Given the description of an element on the screen output the (x, y) to click on. 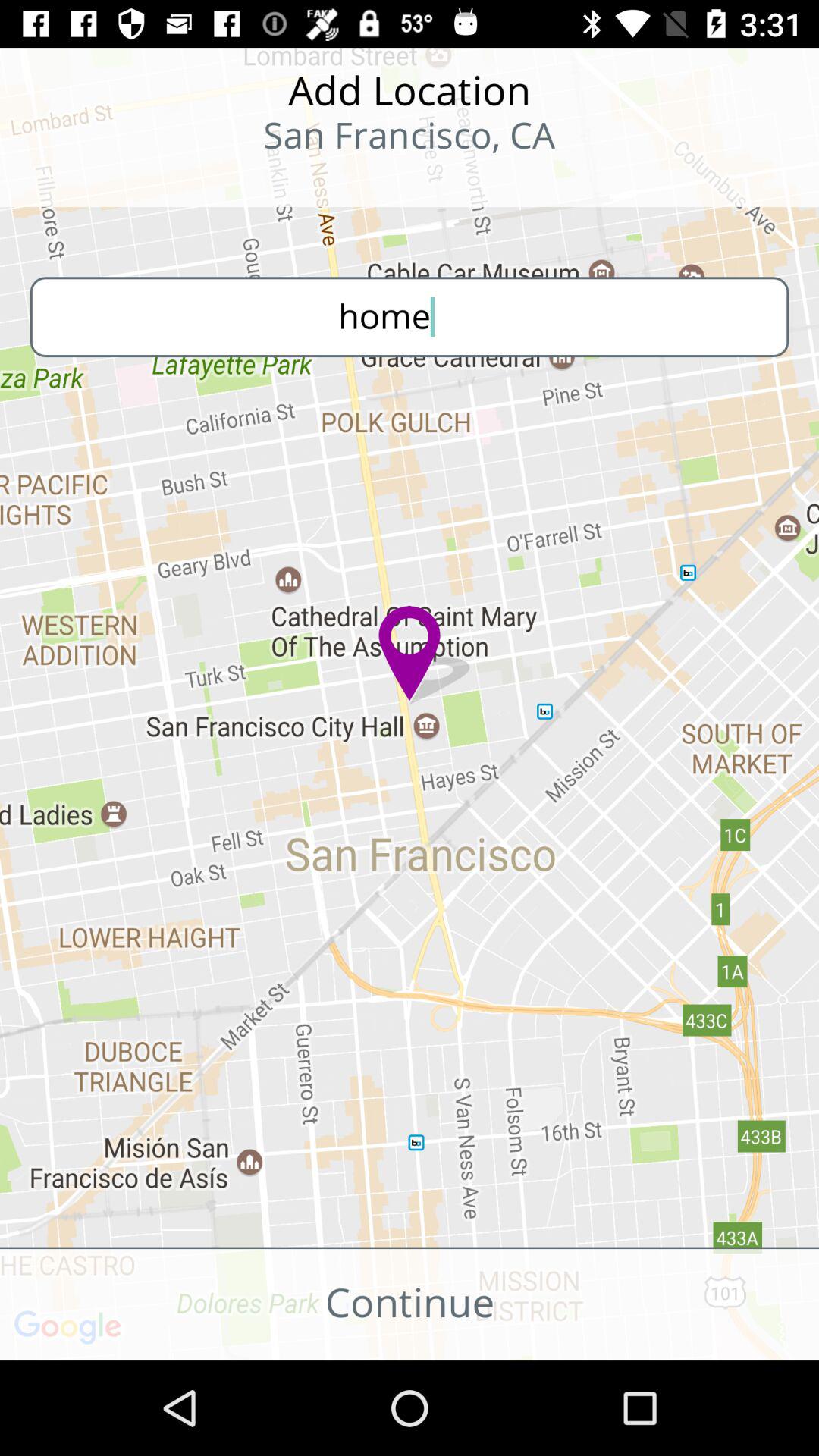
go to map (99, 182)
